Given the description of an element on the screen output the (x, y) to click on. 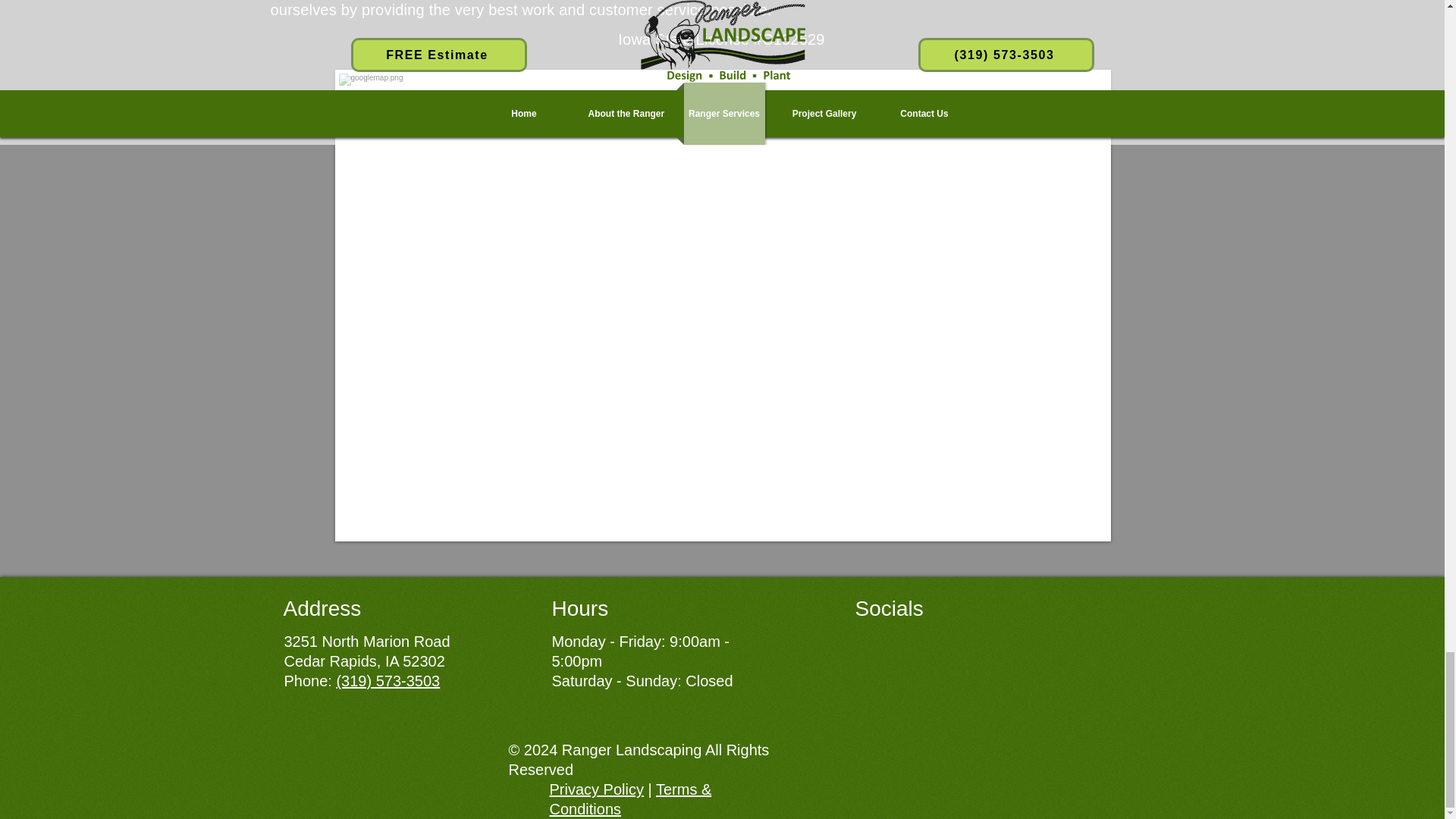
Privacy Policy (595, 789)
